Given the description of an element on the screen output the (x, y) to click on. 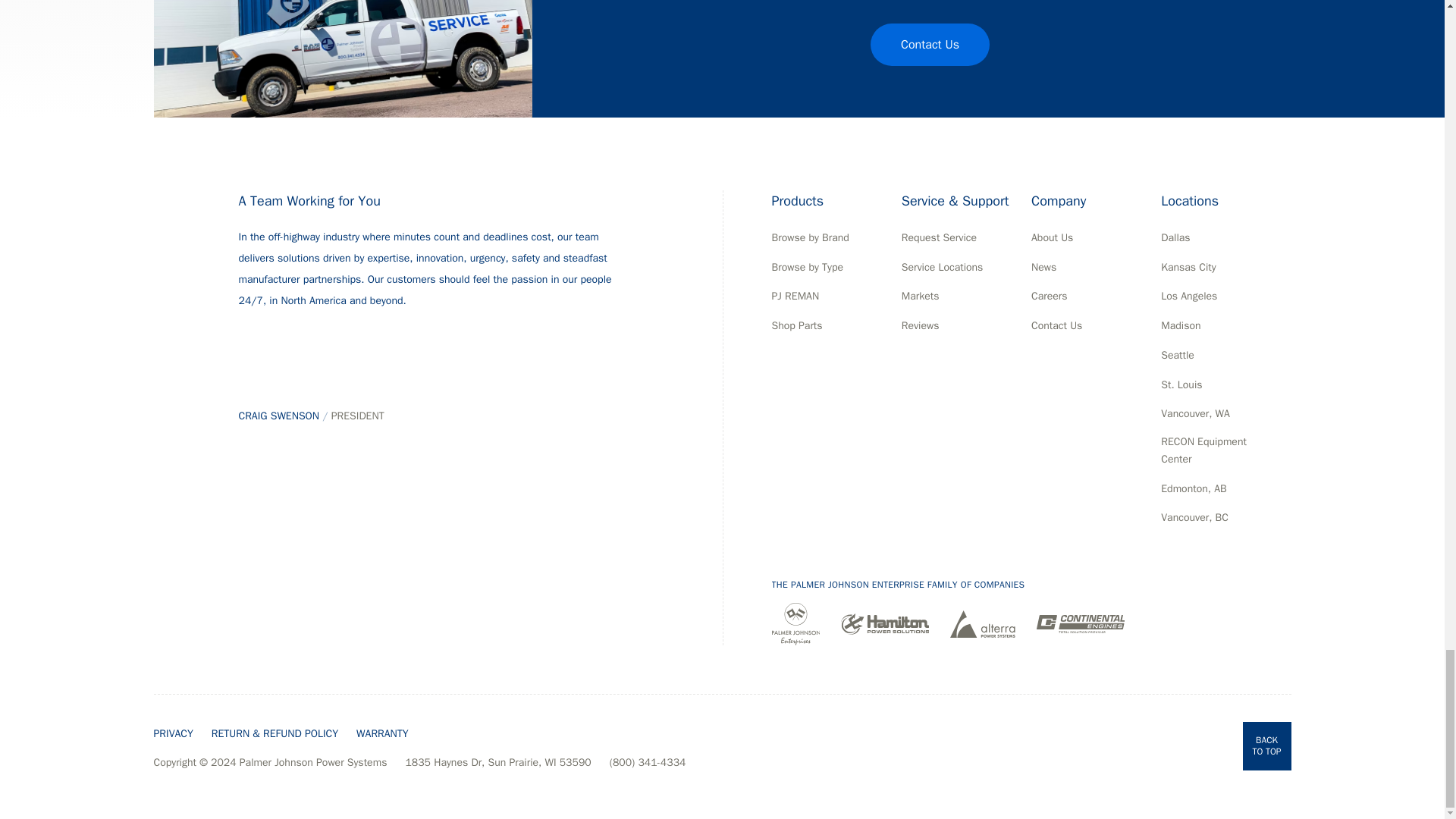
Continental Engines (1080, 624)
Hamilton Power Solutions (884, 623)
Palmer Johnson Enterprises (796, 623)
Alterra Power Systems (982, 624)
